Given the description of an element on the screen output the (x, y) to click on. 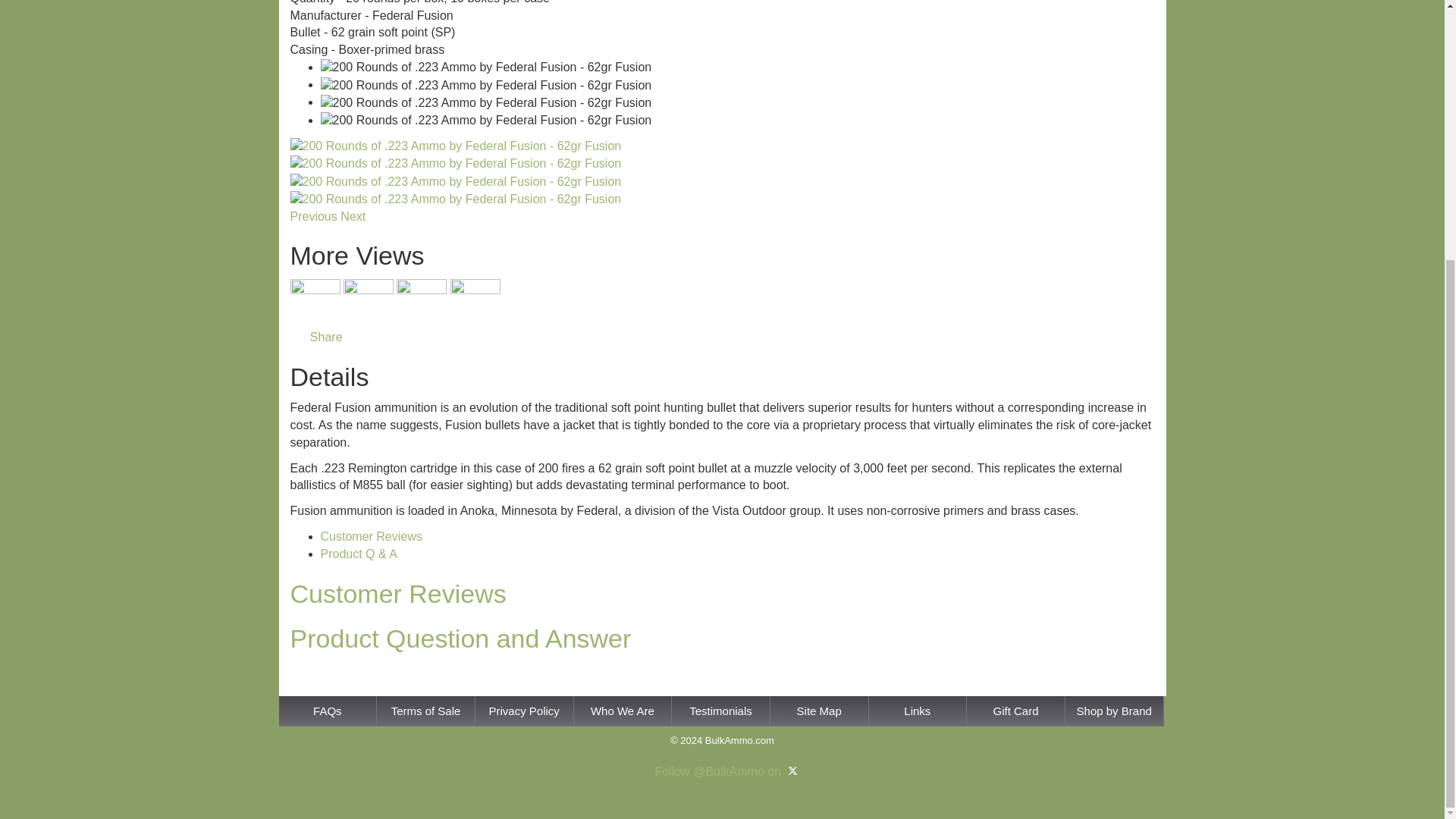
200 Rounds of .223 Ammo by Federal Fusion - 62gr Fusion (485, 85)
200 Rounds of .223 Ammo by Federal Fusion - 62gr Fusion (455, 181)
200 Rounds of .223 Ammo by Federal Fusion - 62gr Fusion (485, 103)
200 Rounds of .223 Ammo by Federal Fusion - 62gr Fusion (455, 146)
200 Rounds of .223 Ammo by Federal Fusion - 62gr Fusion (455, 199)
200 Rounds of .223 Ammo by Federal Fusion - 62gr Fusion (485, 67)
200 Rounds of .223 Ammo by Federal Fusion - 62gr Fusion (455, 163)
200 Rounds of .223 Ammo by Federal Fusion - 62gr Fusion (485, 120)
